Given the description of an element on the screen output the (x, y) to click on. 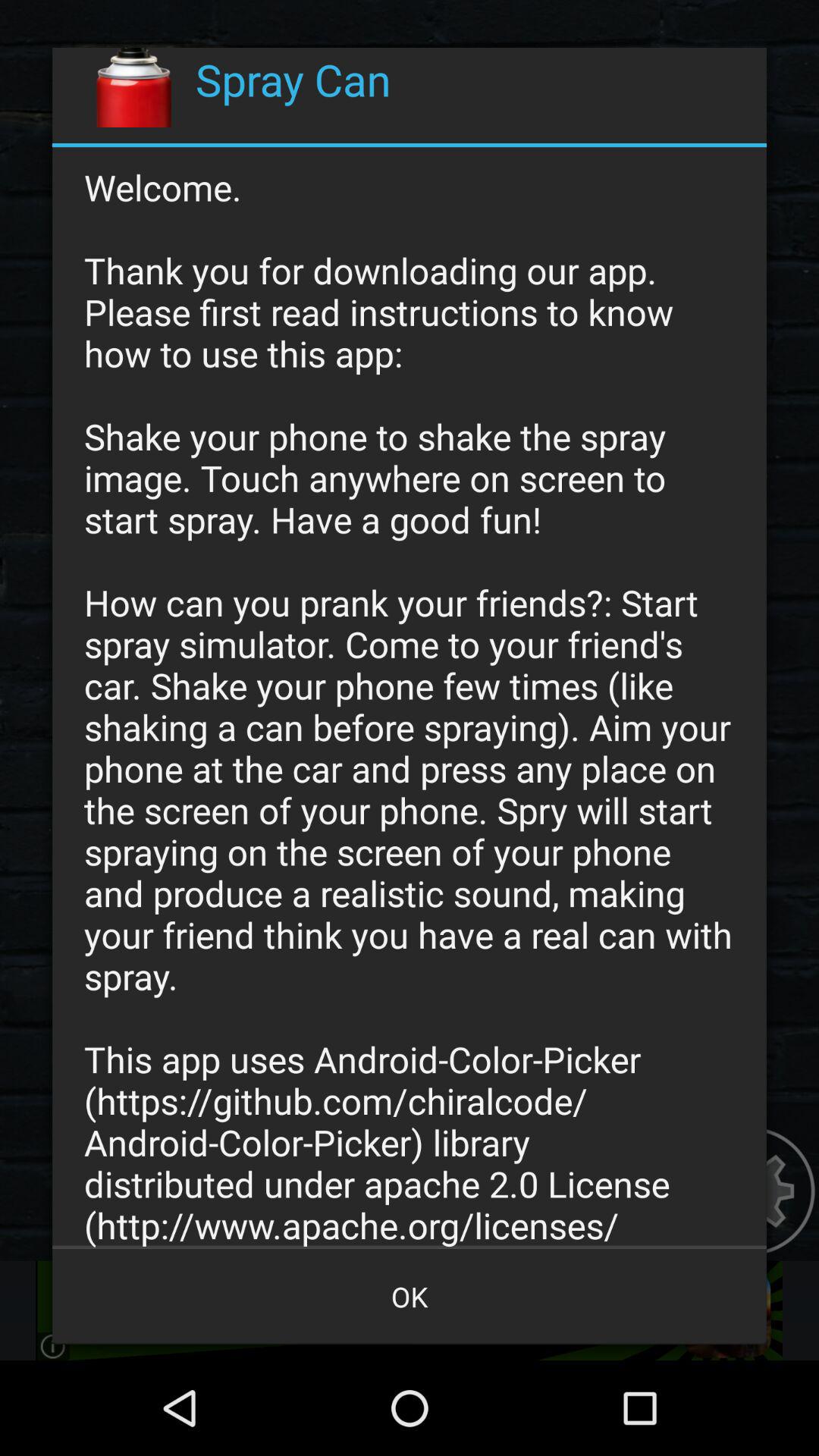
click the item below the welcome thank you (409, 1296)
